Given the description of an element on the screen output the (x, y) to click on. 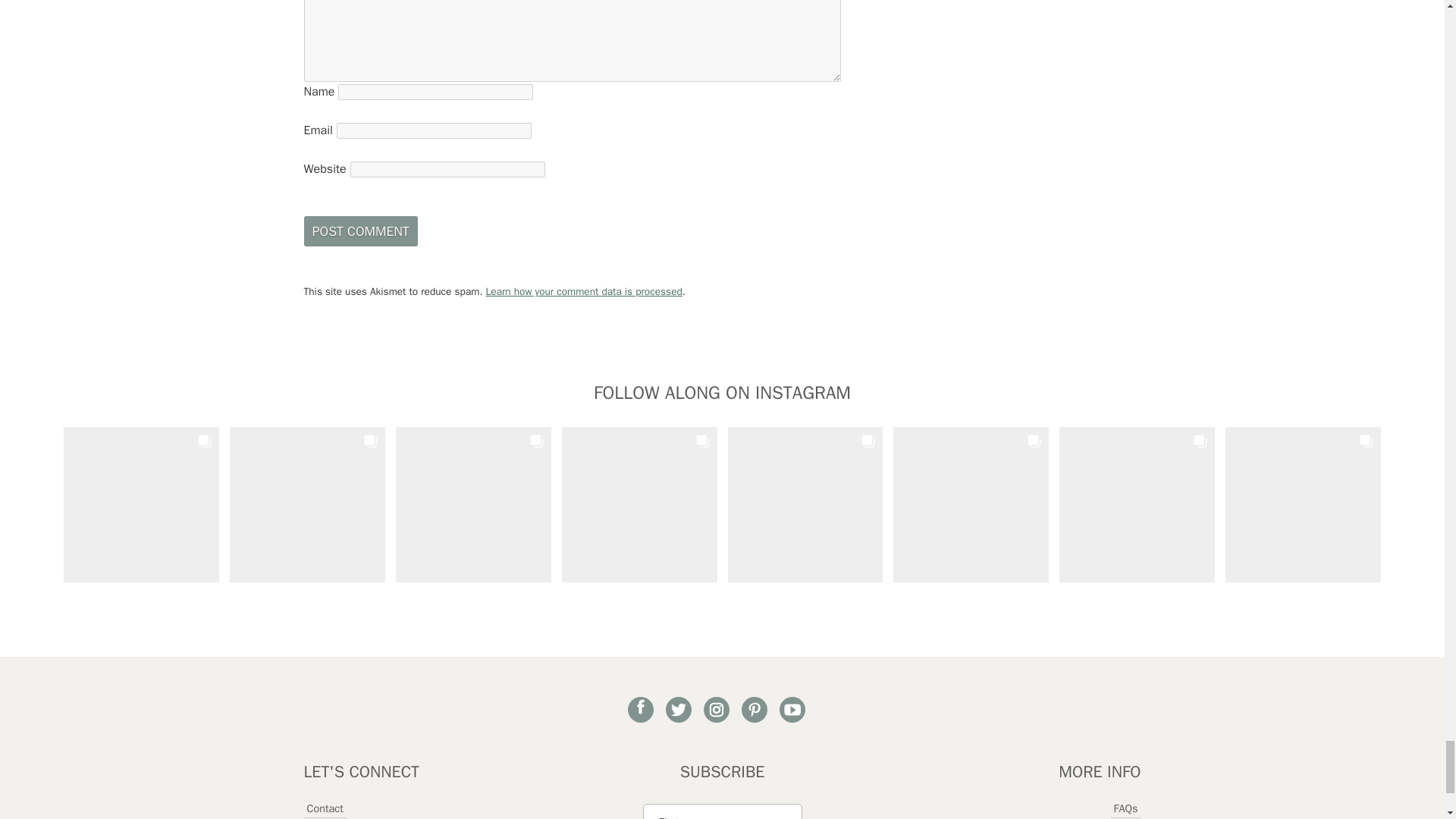
Post Comment (359, 231)
